Given the description of an element on the screen output the (x, y) to click on. 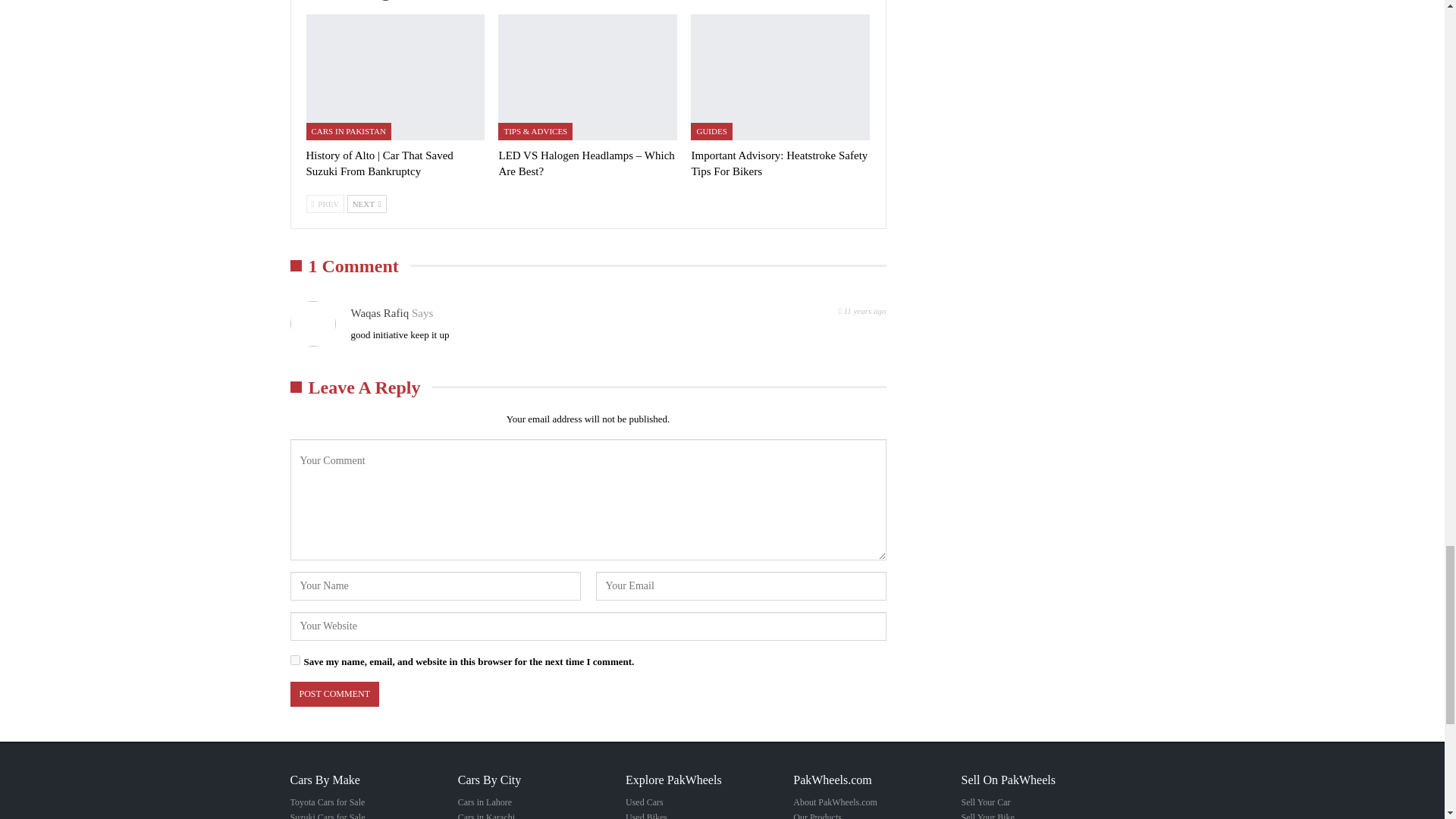
Post Comment (333, 693)
yes (294, 660)
